Given the description of an element on the screen output the (x, y) to click on. 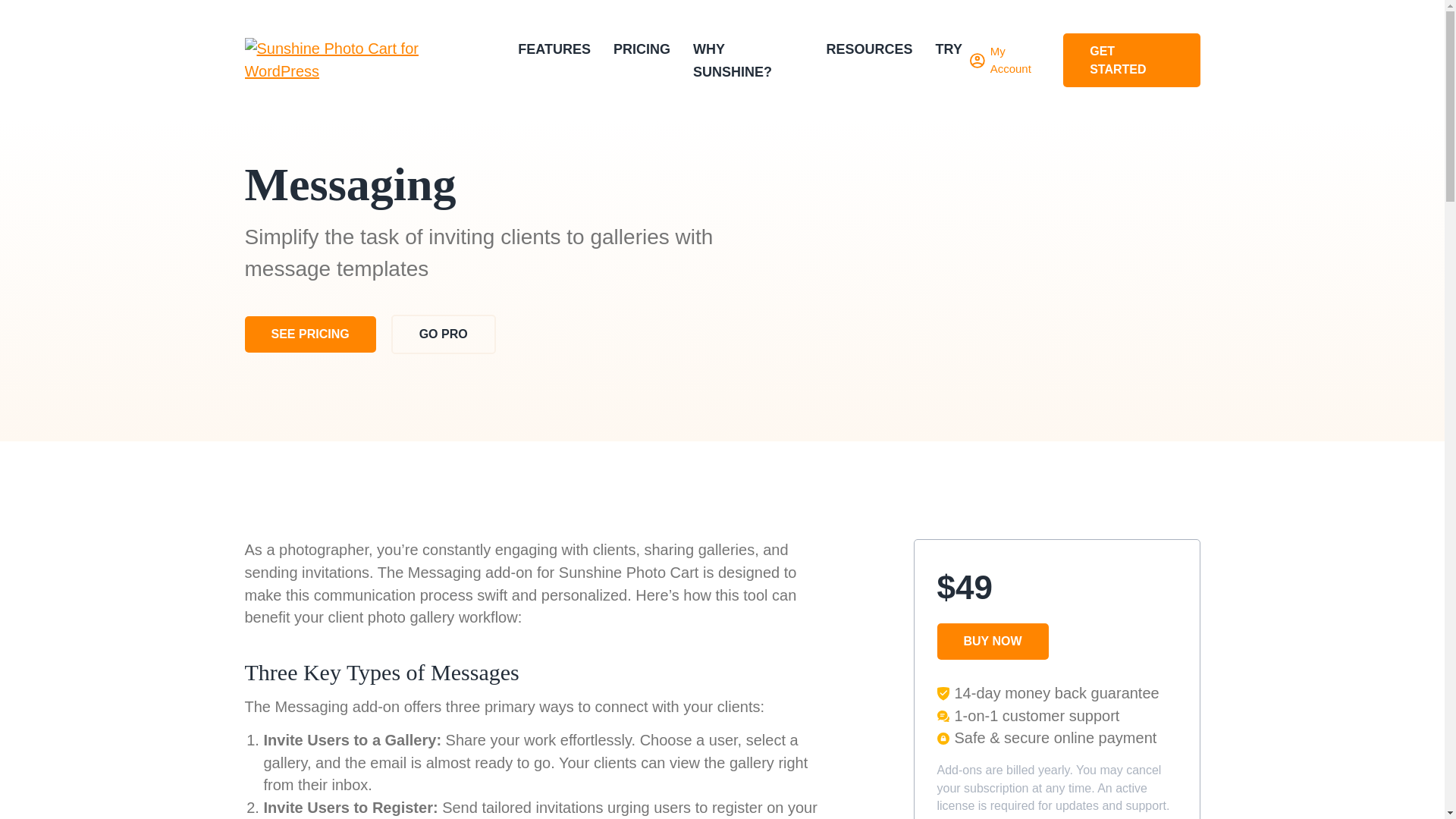
GO PRO (443, 333)
GET STARTED (1130, 59)
My Account (1008, 59)
BUY NOW (992, 641)
TRY (949, 48)
FEATURES (554, 48)
WHY SUNSHINE? (732, 60)
Buy Now (56, 18)
RESOURCES (869, 48)
SEE PRICING (309, 334)
View terms (967, 818)
PRICING (640, 48)
